Given the description of an element on the screen output the (x, y) to click on. 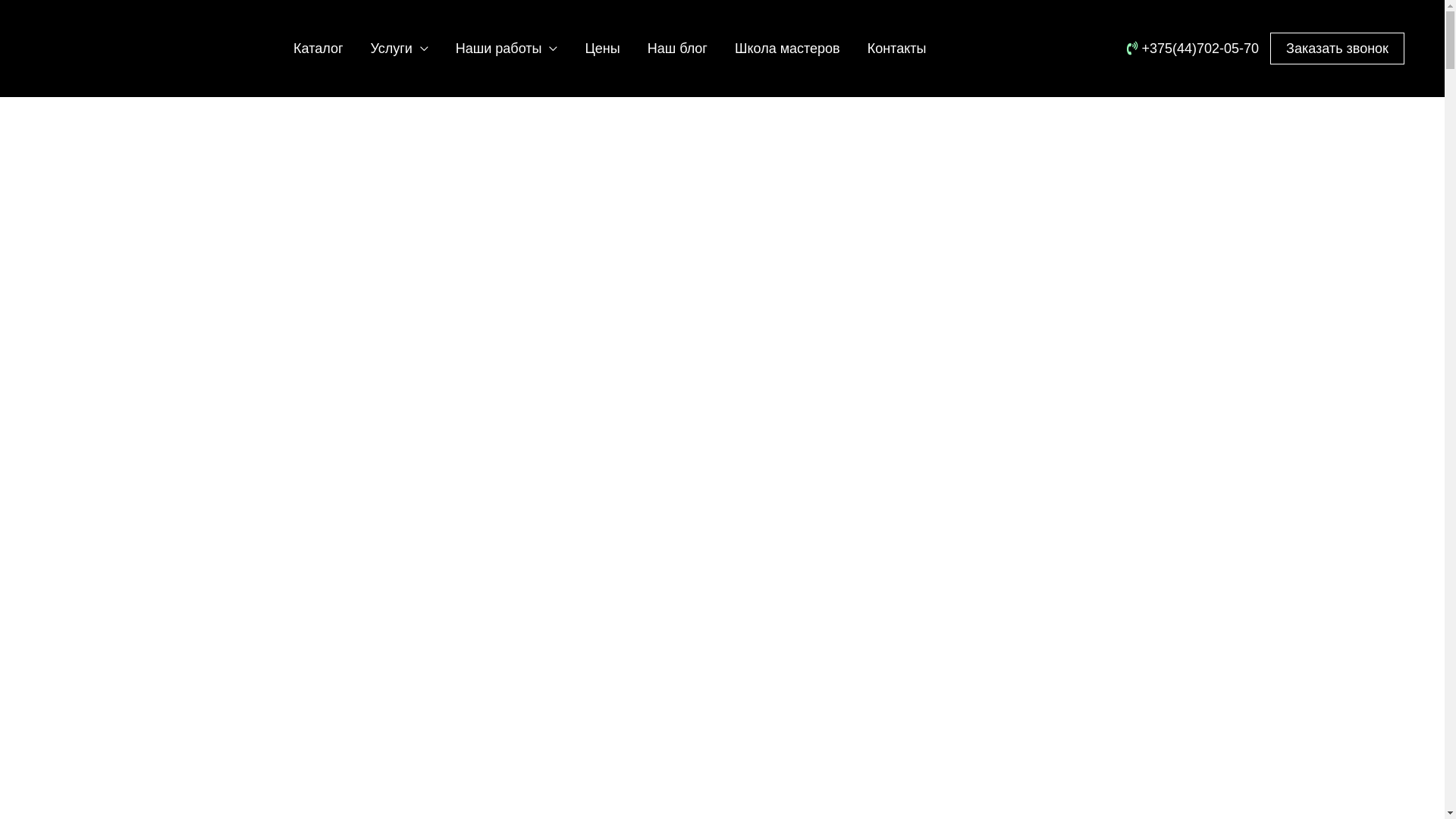
+375(44)702-05-70 Element type: text (1194, 48)
